Given the description of an element on the screen output the (x, y) to click on. 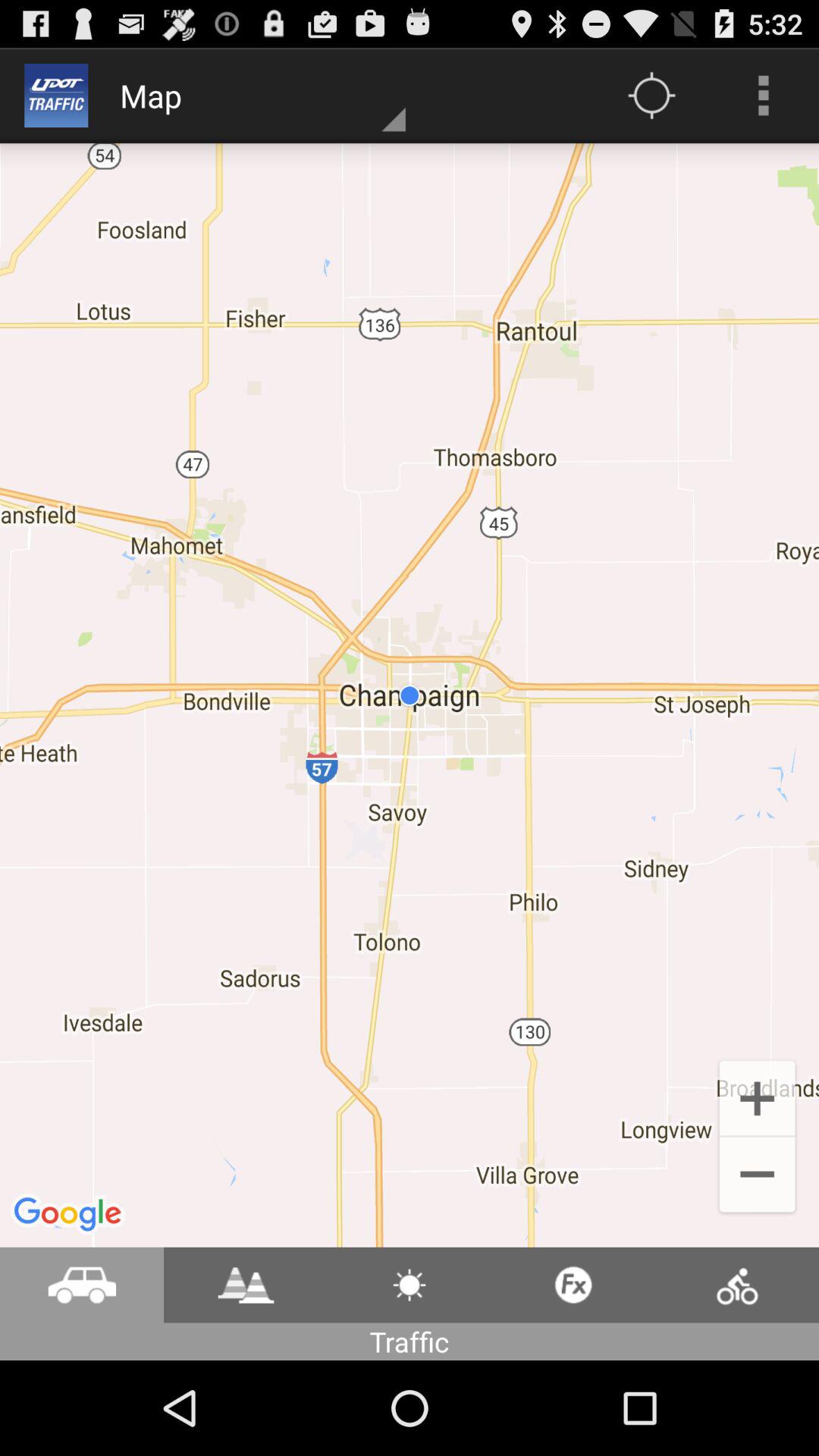
show road weather conditions (409, 1284)
